Given the description of an element on the screen output the (x, y) to click on. 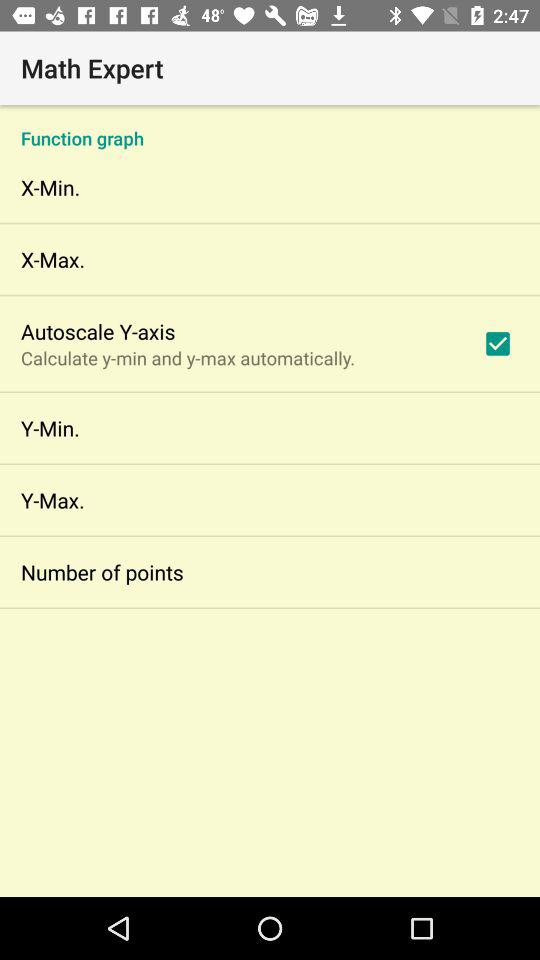
click item to the right of the calculate y min icon (497, 343)
